Given the description of an element on the screen output the (x, y) to click on. 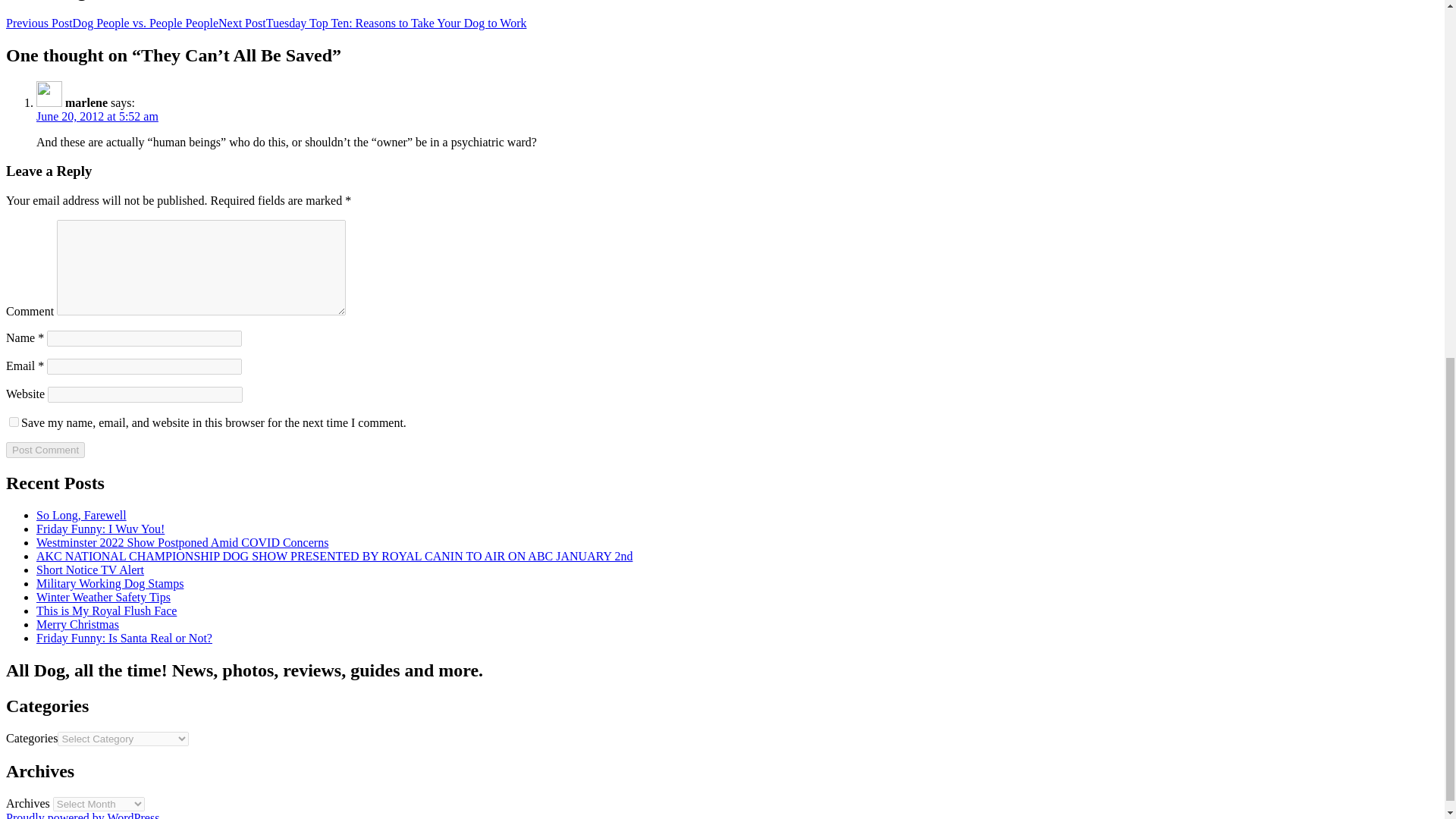
Friday Funny: I Wuv You! (100, 528)
Post Comment (44, 449)
Merry Christmas (77, 624)
So Long, Farewell (81, 514)
This is My Royal Flush Face (106, 610)
Westminster 2022 Show Postponed Amid COVID Concerns (182, 542)
Winter Weather Safety Tips (103, 596)
Previous PostDog People vs. People People (111, 22)
Post Comment (44, 449)
